Given the description of an element on the screen output the (x, y) to click on. 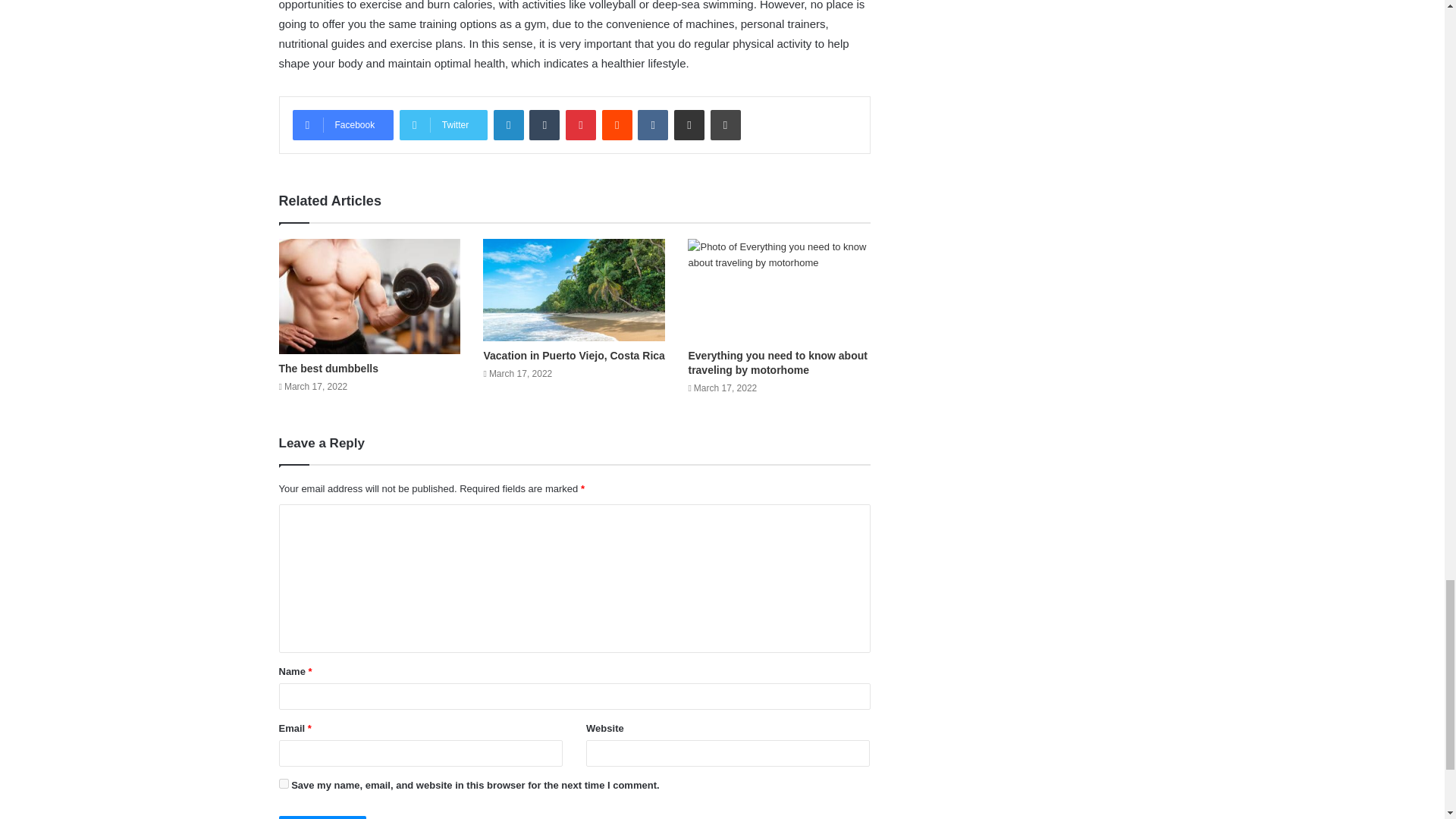
Print (725, 124)
Print (725, 124)
Reddit (616, 124)
Post Comment (322, 817)
Twitter (442, 124)
LinkedIn (508, 124)
Facebook (343, 124)
Vacation in Puerto Viejo, Costa Rica (573, 355)
Post Comment (322, 817)
Tumblr (544, 124)
Facebook (343, 124)
yes (283, 783)
VKontakte (652, 124)
Twitter (442, 124)
VKontakte (652, 124)
